Given the description of an element on the screen output the (x, y) to click on. 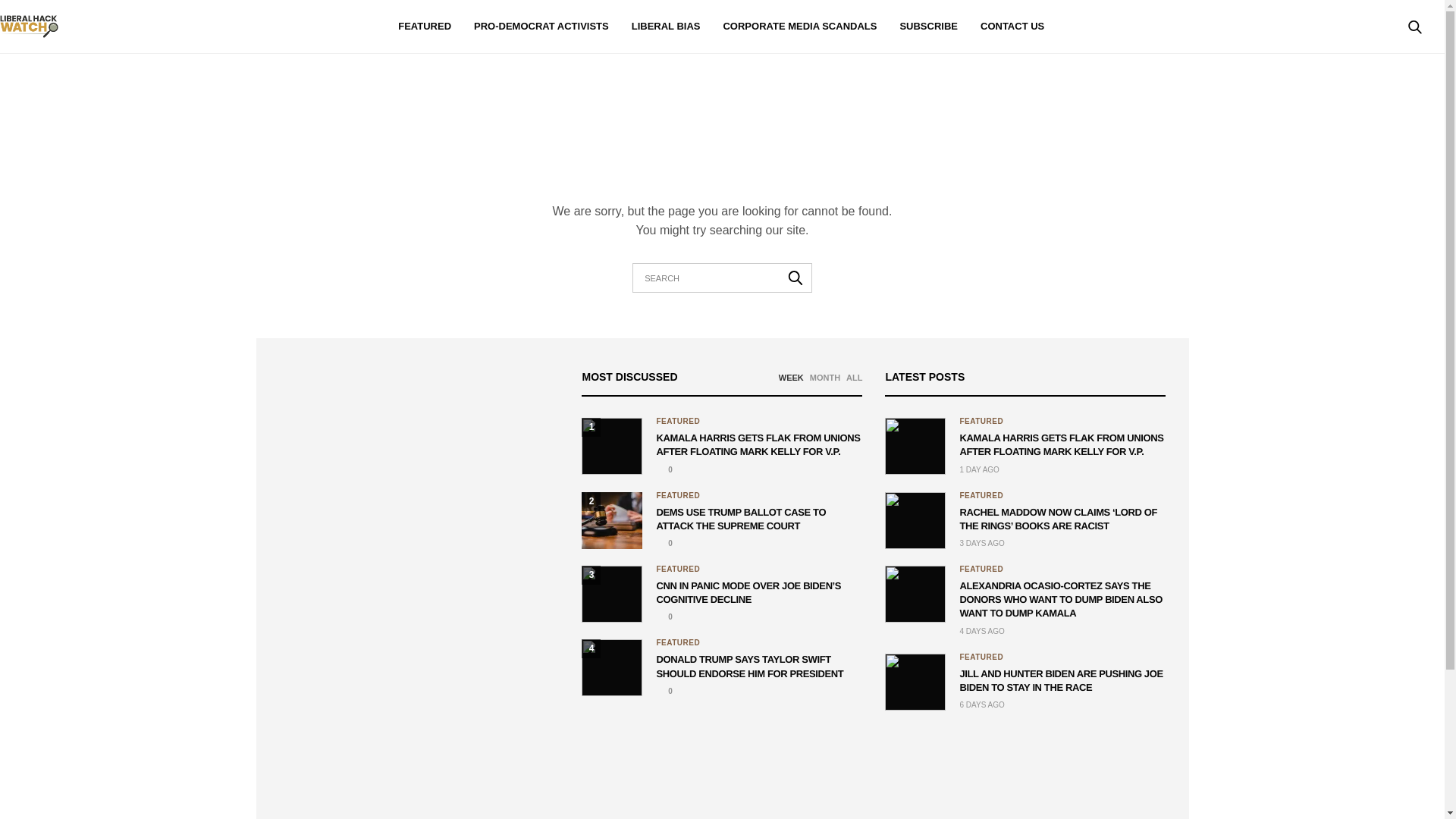
Featured (678, 569)
PRO-DEMOCRAT ACTIVISTS (541, 26)
0 (663, 470)
Search (1393, 73)
0 (663, 542)
Search (795, 276)
CORPORATE MEDIA SCANDALS (799, 26)
0 (663, 616)
SUBSCRIBE (928, 26)
Dems Use Trump Ballot Case to Attack the Supreme Court (611, 520)
Dems Use Trump Ballot Case to Attack the Supreme Court (663, 542)
WEEK (790, 377)
CONTACT US (1011, 26)
FEATURED (424, 26)
